Given the description of an element on the screen output the (x, y) to click on. 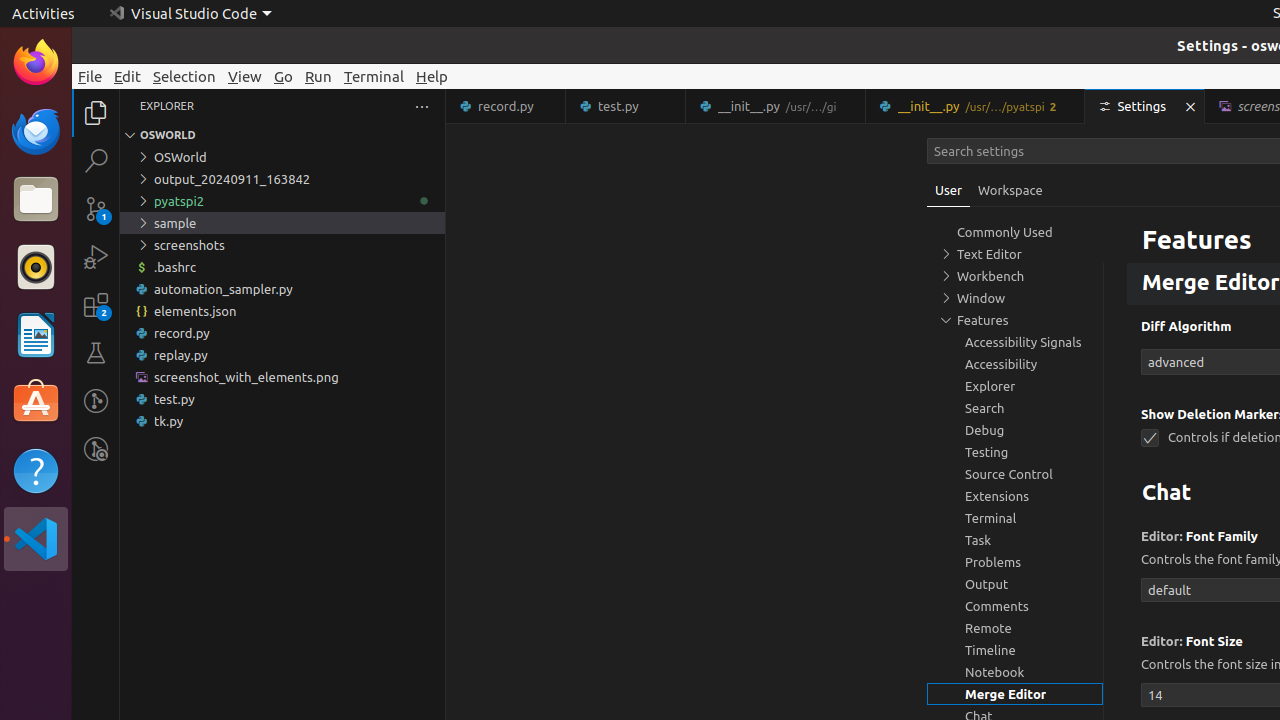
record.py Element type: page-tab (506, 106)
screenshots Element type: tree-item (282, 245)
Commonly Used, group Element type: tree-item (1015, 232)
test.py Element type: page-tab (626, 106)
